Given the description of an element on the screen output the (x, y) to click on. 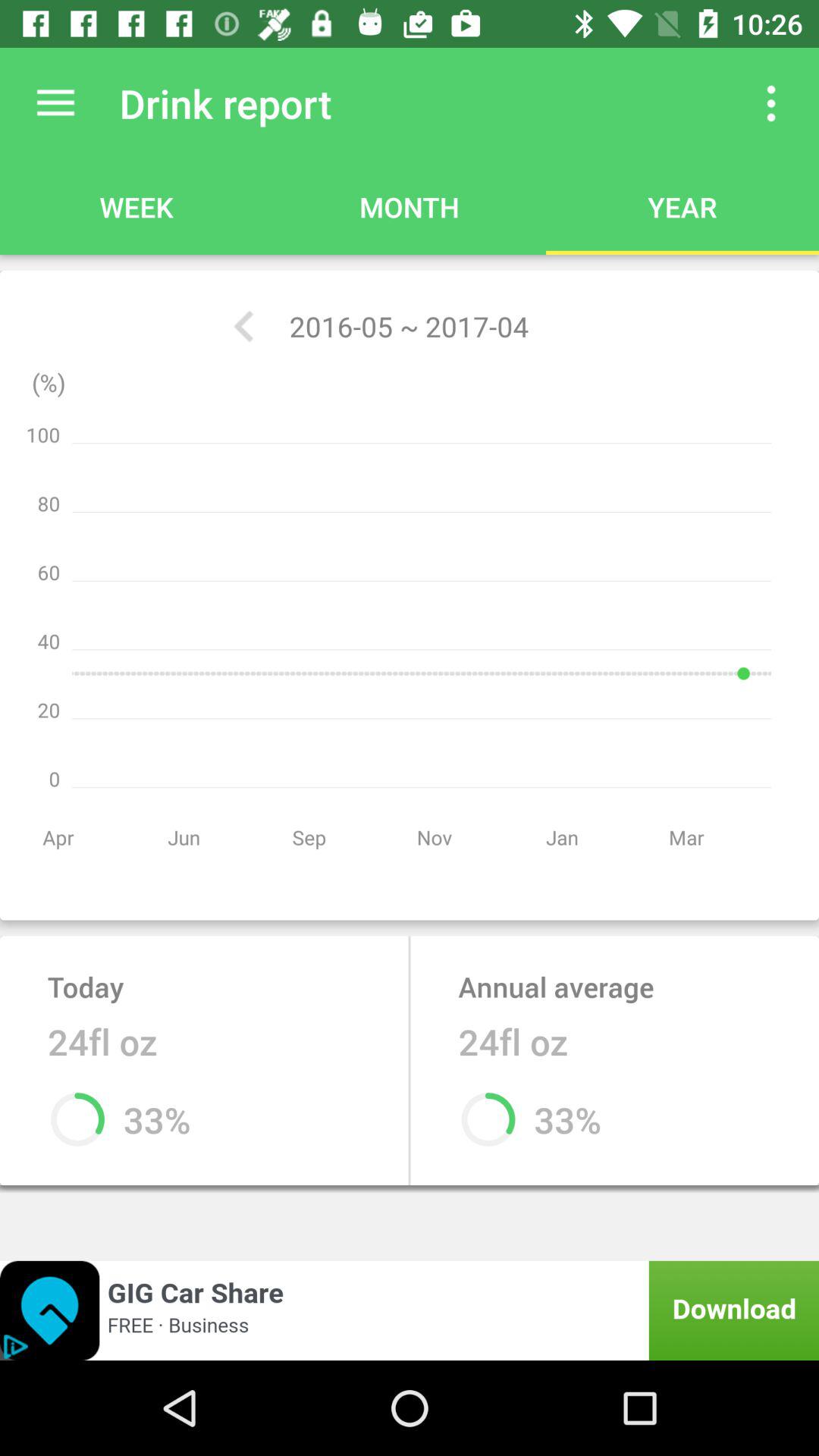
settings/options (55, 103)
